Given the description of an element on the screen output the (x, y) to click on. 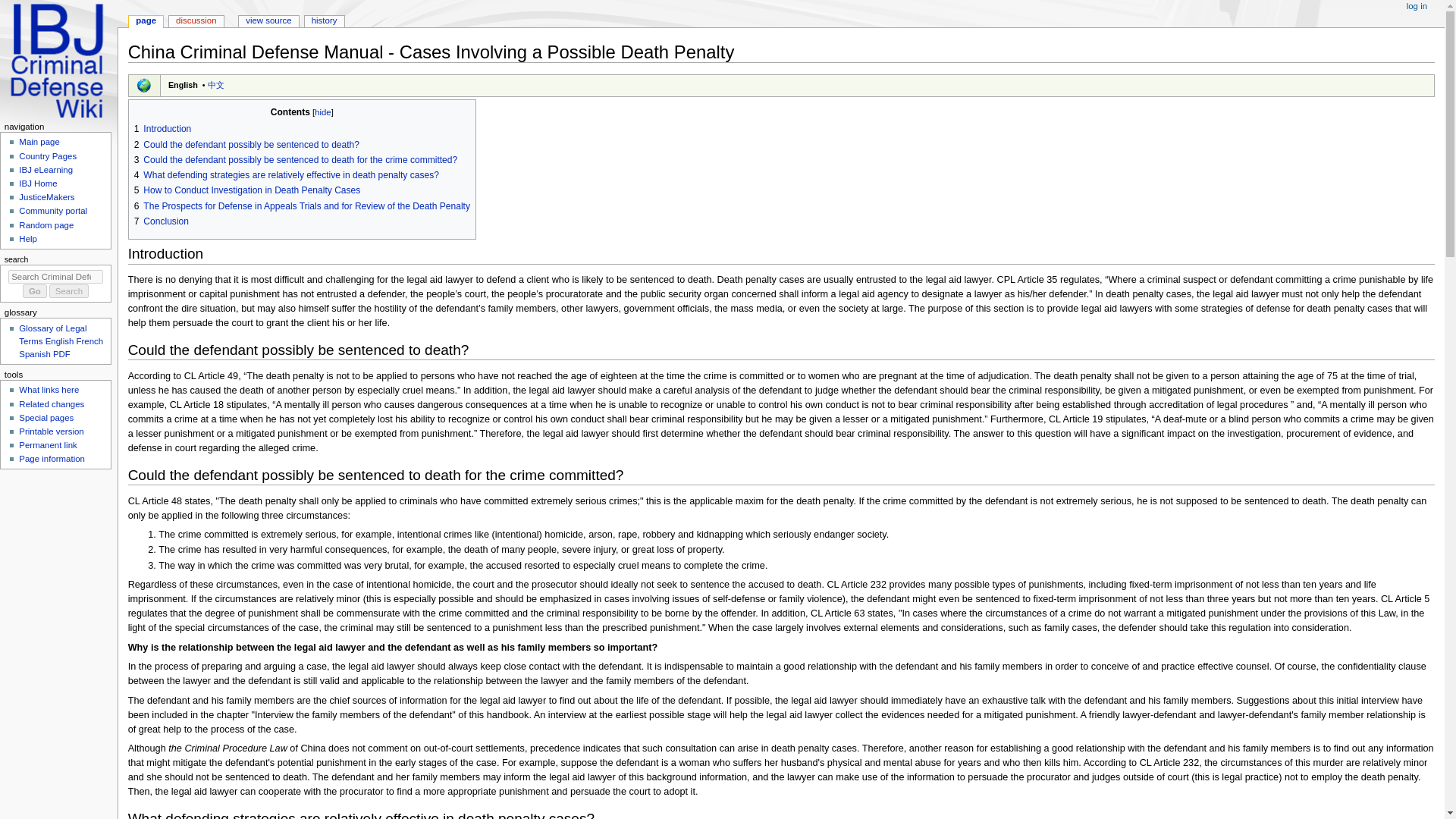
view source (268, 21)
JusticeMakers (46, 196)
Search the pages for this text (68, 291)
5 How to Conduct Investigation in Death Penalty Cases (247, 190)
Special pages (46, 417)
Related changes (51, 403)
1 Introduction (162, 128)
Go (34, 291)
Search (68, 291)
